Given the description of an element on the screen output the (x, y) to click on. 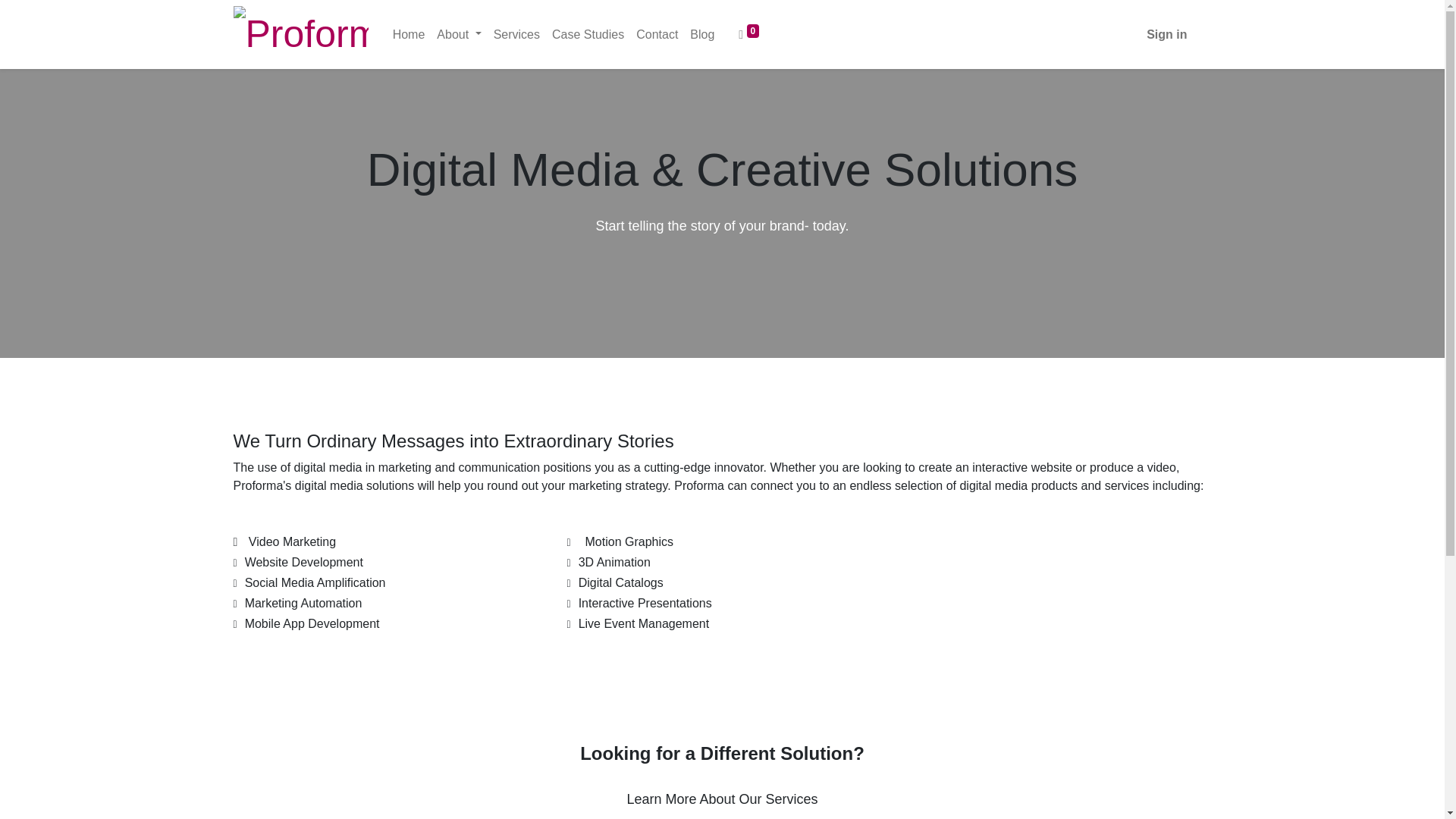
Home (408, 34)
Services (516, 34)
Blog (702, 34)
Contact (657, 34)
0 (748, 34)
About (458, 34)
Proforma Global Sourcing (300, 34)
Case Studies (588, 34)
Sign in (1166, 34)
